Given the description of an element on the screen output the (x, y) to click on. 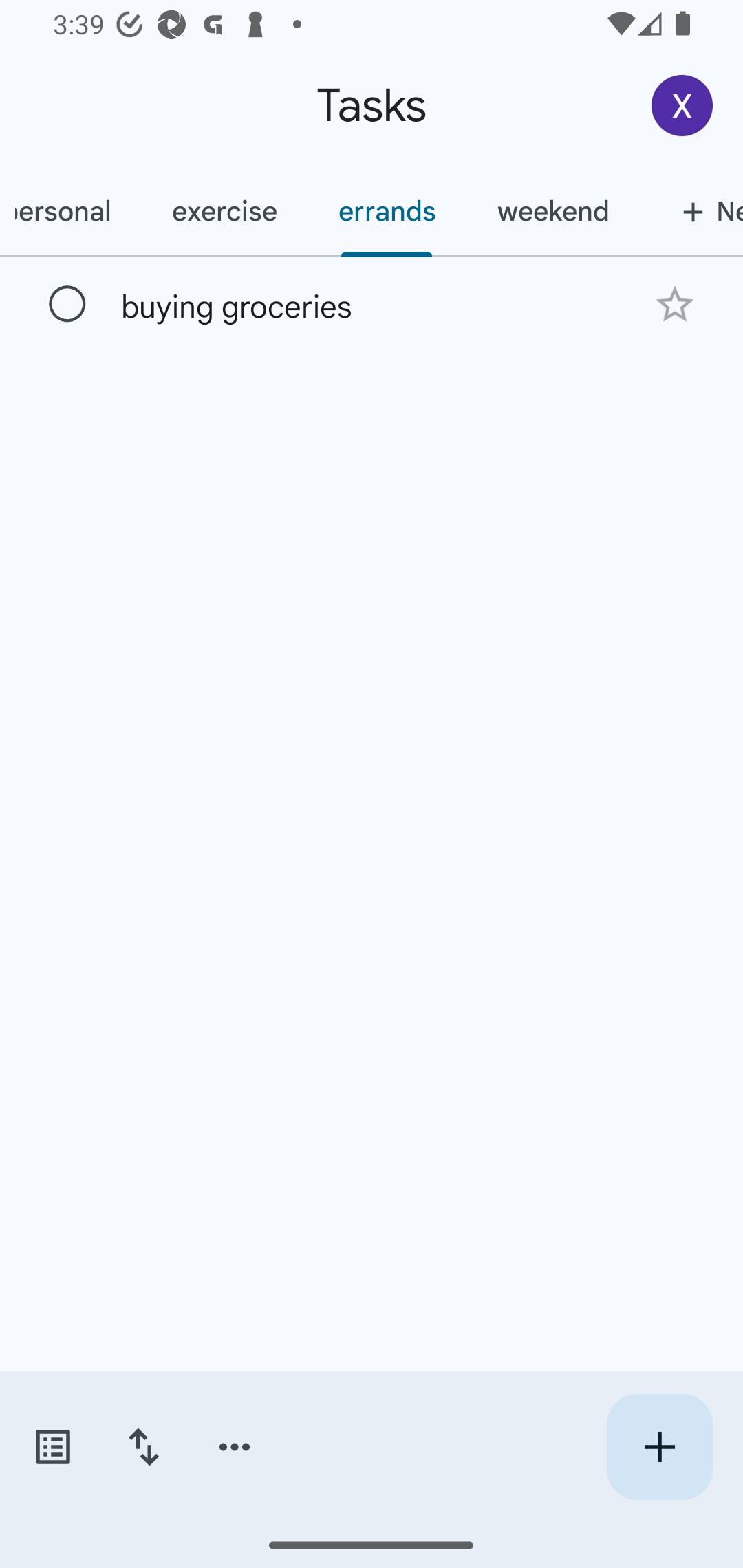
personal (70, 211)
exercise (224, 211)
weekend (552, 211)
New list (691, 211)
Add star (674, 303)
Mark as complete (67, 304)
Switch task lists (52, 1447)
Create new task (659, 1446)
Change sort order (143, 1446)
More options (234, 1446)
